Given the description of an element on the screen output the (x, y) to click on. 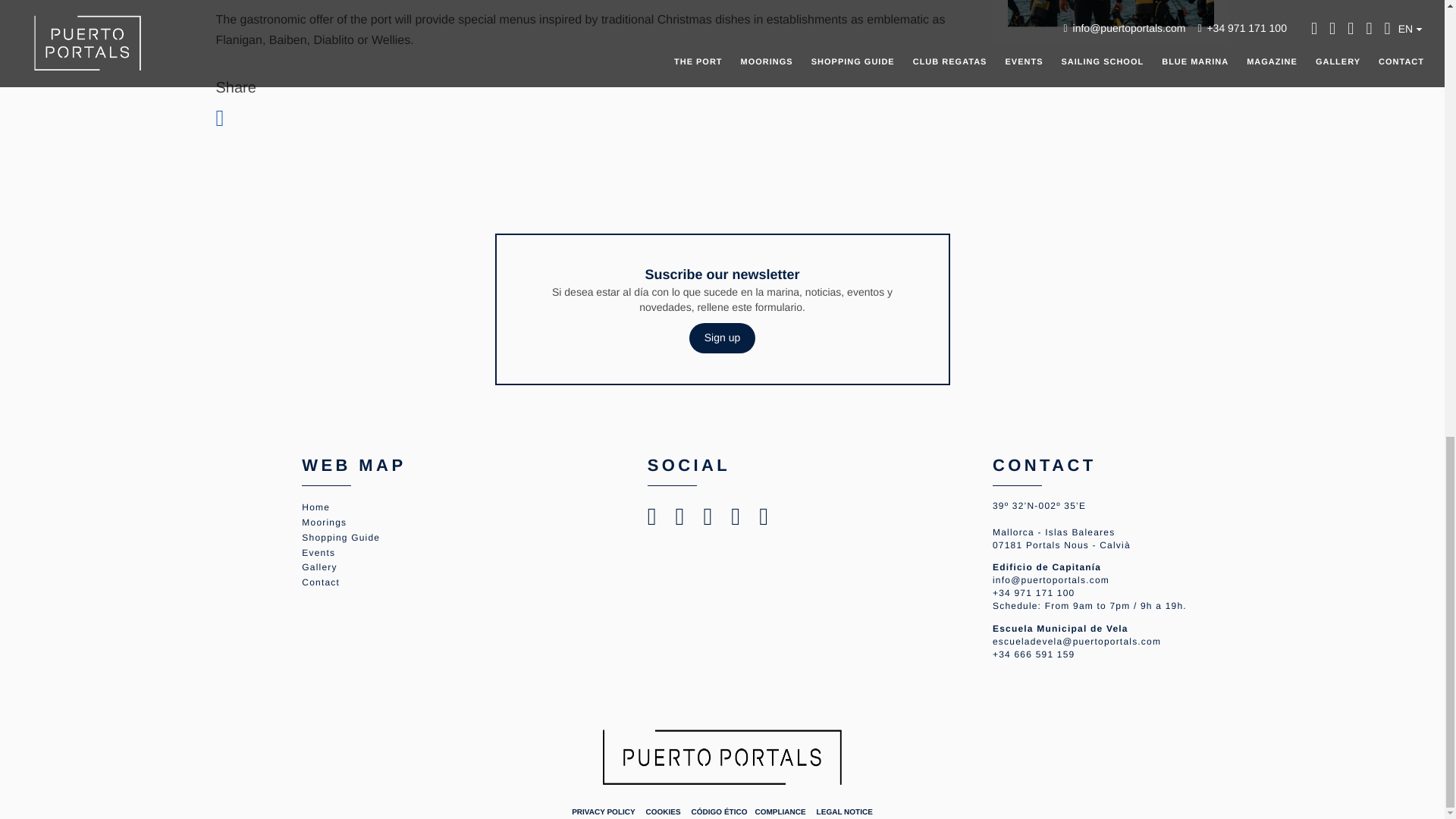
Contact (320, 582)
Events (317, 552)
Sign up (721, 337)
Gallery (318, 566)
Home (315, 507)
Moorings (323, 521)
Shopping Guide (340, 537)
